Given the description of an element on the screen output the (x, y) to click on. 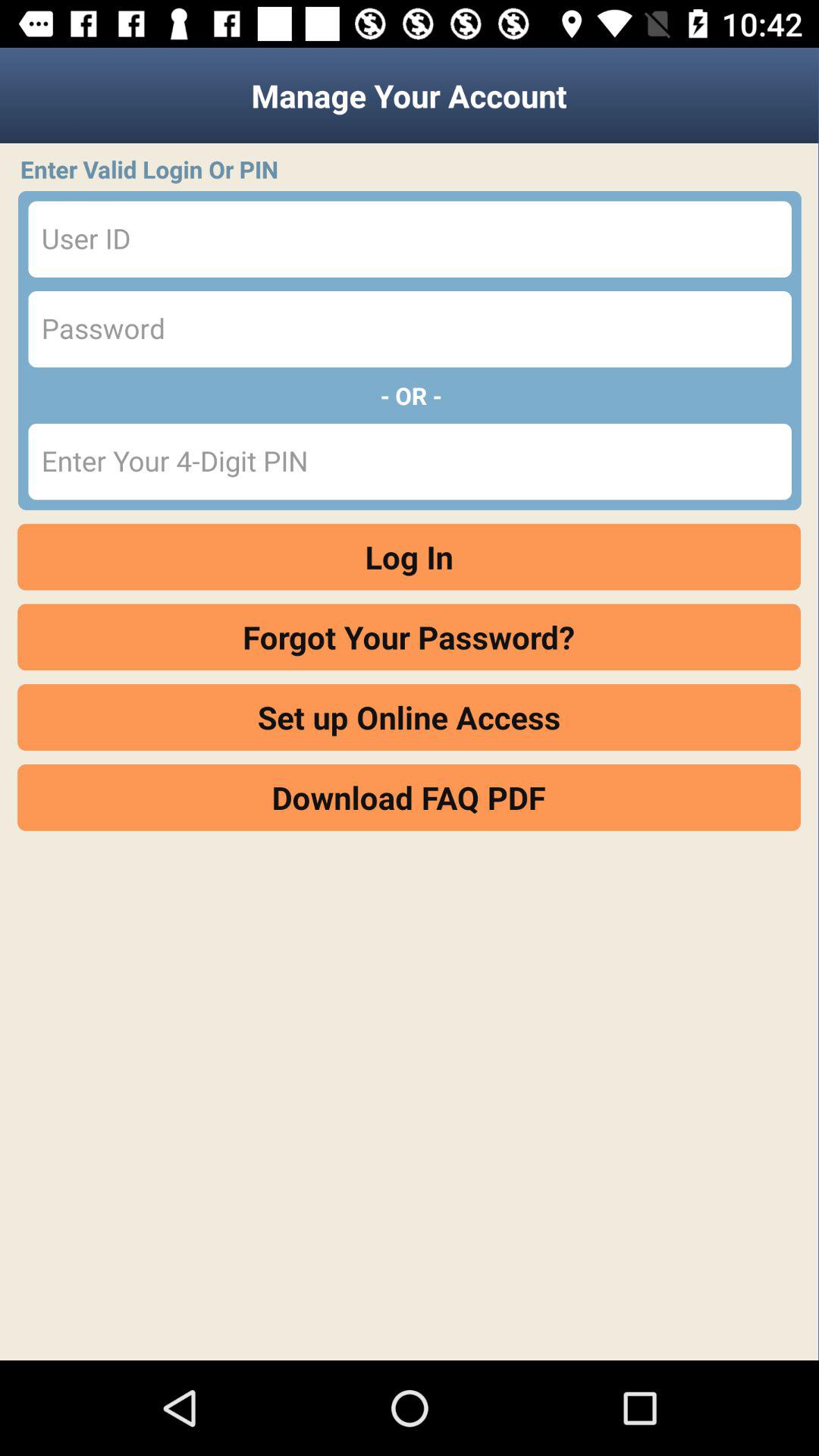
jump until the set up online icon (408, 717)
